Given the description of an element on the screen output the (x, y) to click on. 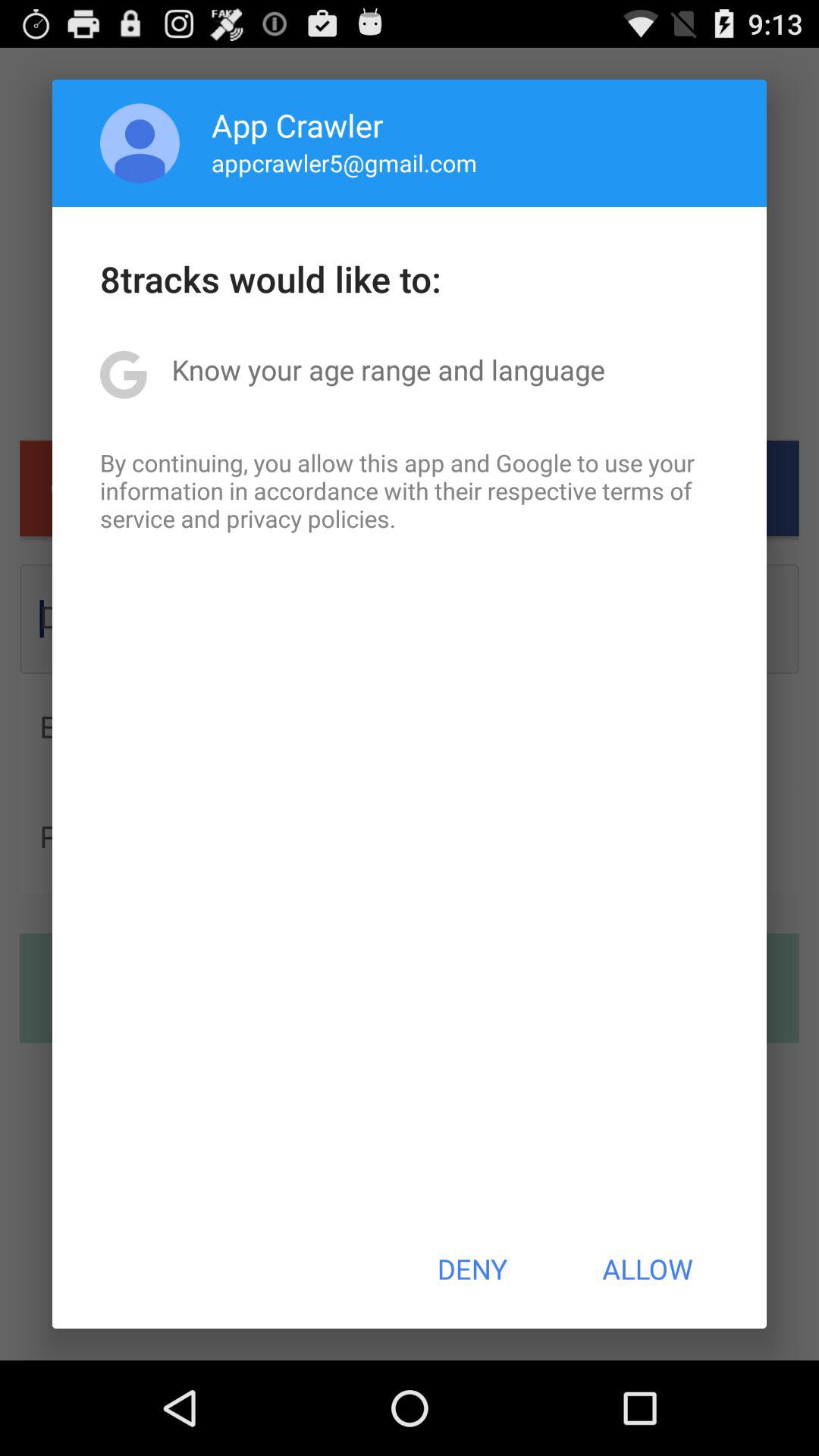
open app above the 8tracks would like app (139, 143)
